Given the description of an element on the screen output the (x, y) to click on. 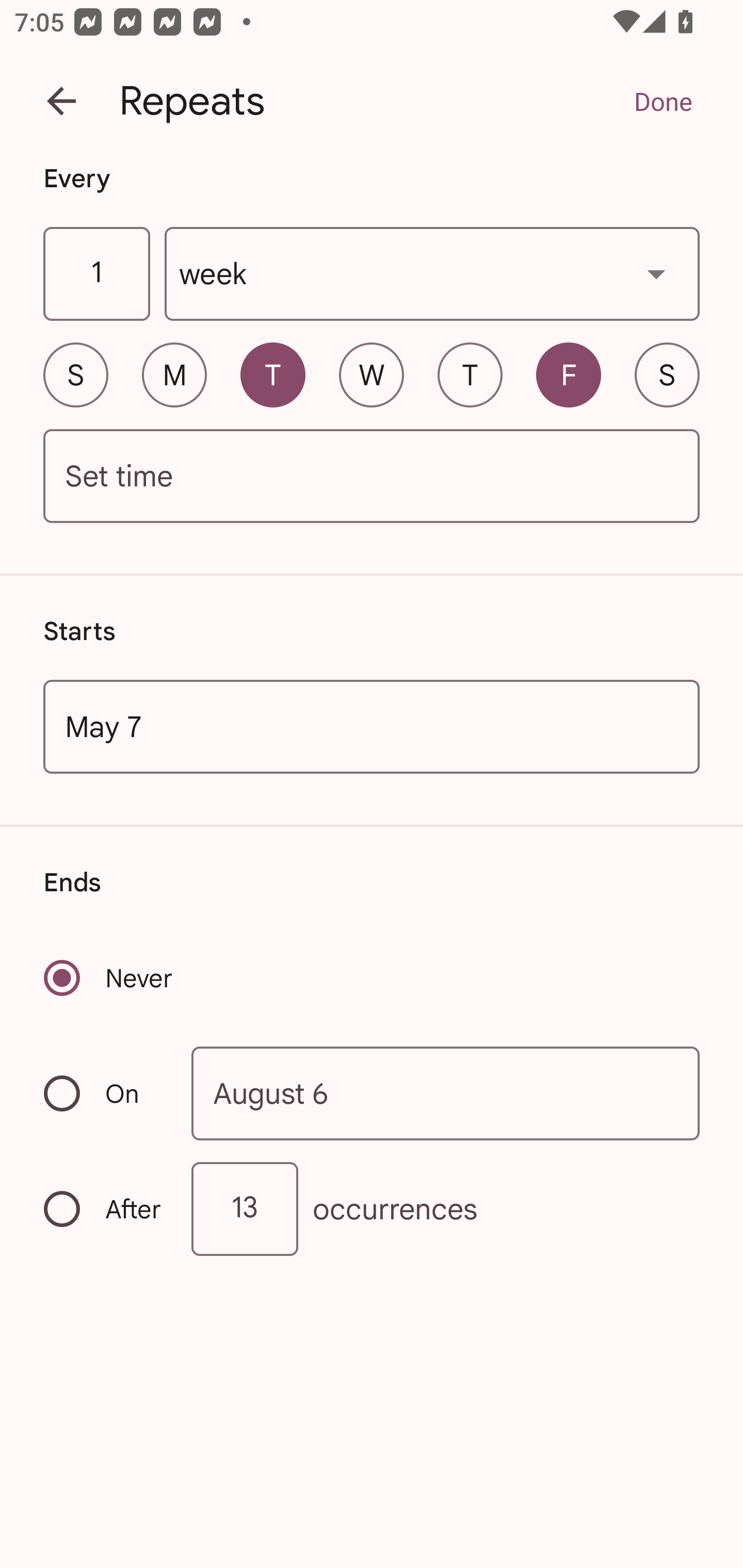
Back (61, 101)
Done (663, 101)
1 (96, 274)
week (431, 274)
Show dropdown menu (655, 273)
S Sunday (75, 374)
M Monday (173, 374)
T Tuesday, selected (272, 374)
W Wednesday (371, 374)
T Thursday (469, 374)
F Friday, selected (568, 374)
S Saturday (666, 374)
Set time (371, 476)
May 7 (371, 726)
Never Recurrence never ends (109, 978)
August 6 (445, 1092)
On Recurrence ends on a specific date (104, 1093)
13 (244, 1208)
